Given the description of an element on the screen output the (x, y) to click on. 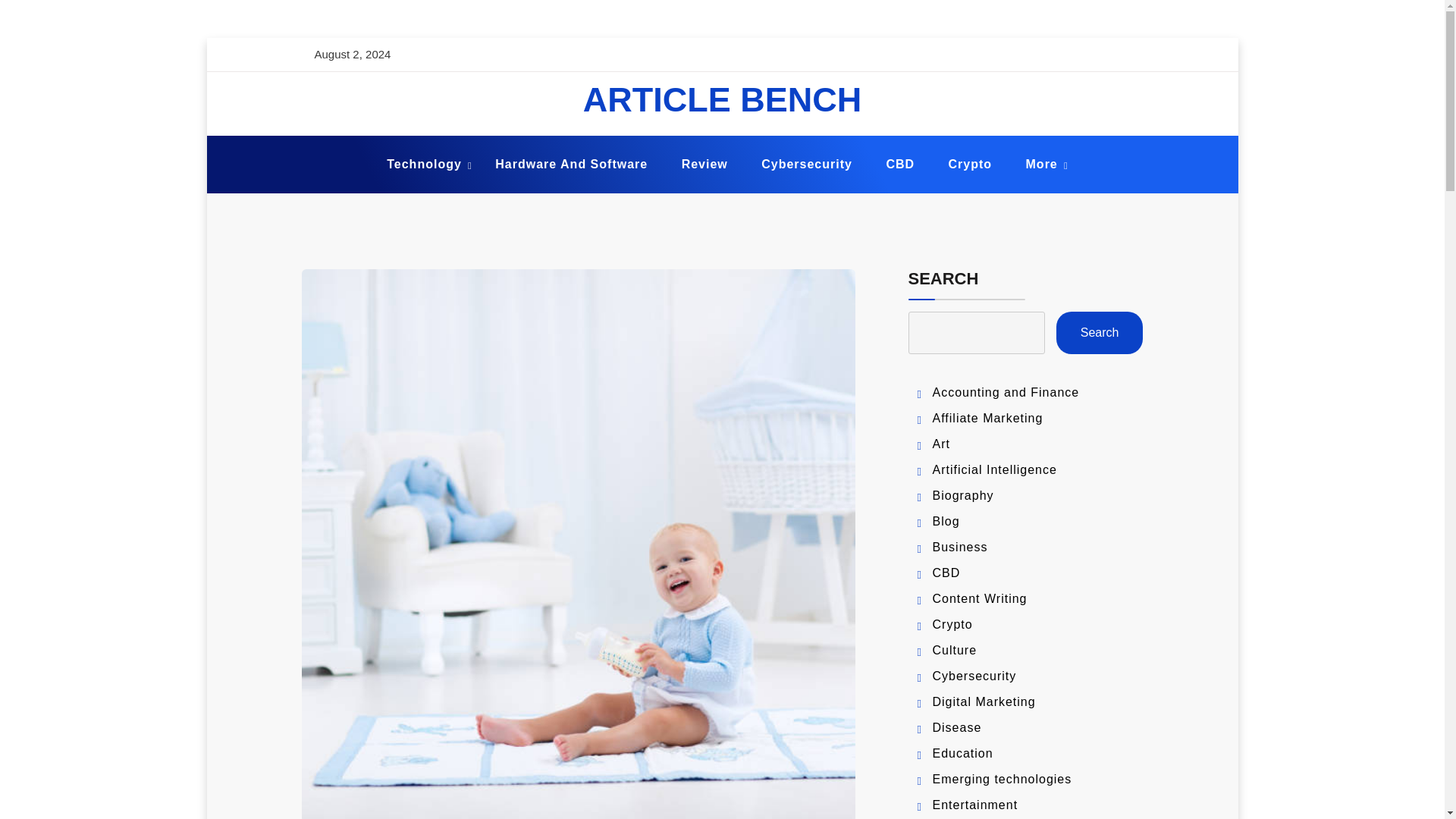
ARTICLE BENCH (722, 99)
Hardware And Software (571, 164)
Crypto (970, 164)
CBD (900, 164)
ARTICLE BENCH (722, 99)
More (1041, 164)
Cybersecurity (806, 164)
Review (704, 164)
Technology (424, 164)
